Given the description of an element on the screen output the (x, y) to click on. 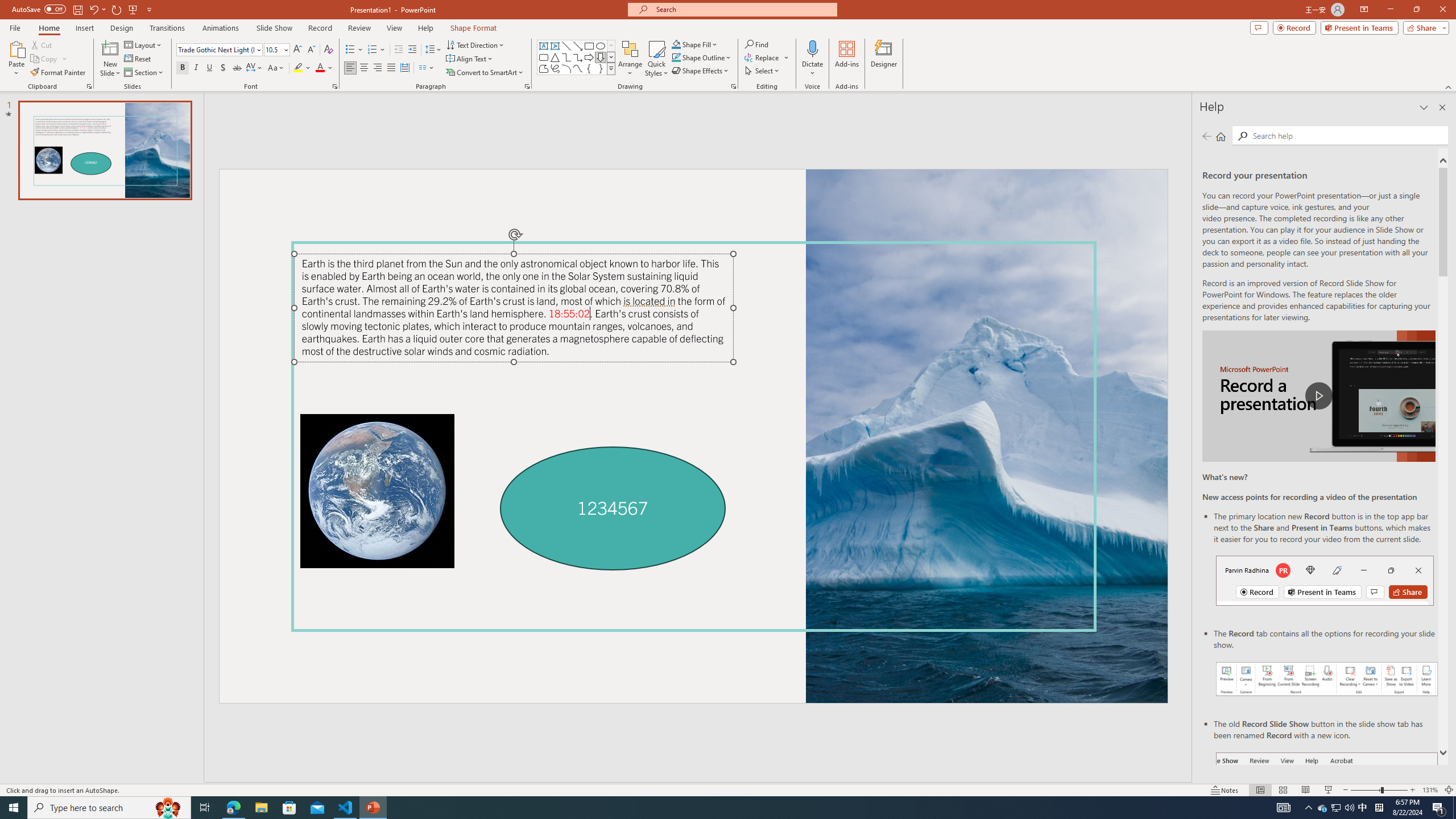
Connector: Elbow (566, 57)
Bullets (349, 49)
Quick Styles (656, 58)
Line (566, 45)
Strikethrough (237, 67)
Curve (577, 68)
Change Case (276, 67)
Numbering (372, 49)
Connector: Elbow Arrow (577, 57)
Text Direction (476, 44)
Italic (195, 67)
